Given the description of an element on the screen output the (x, y) to click on. 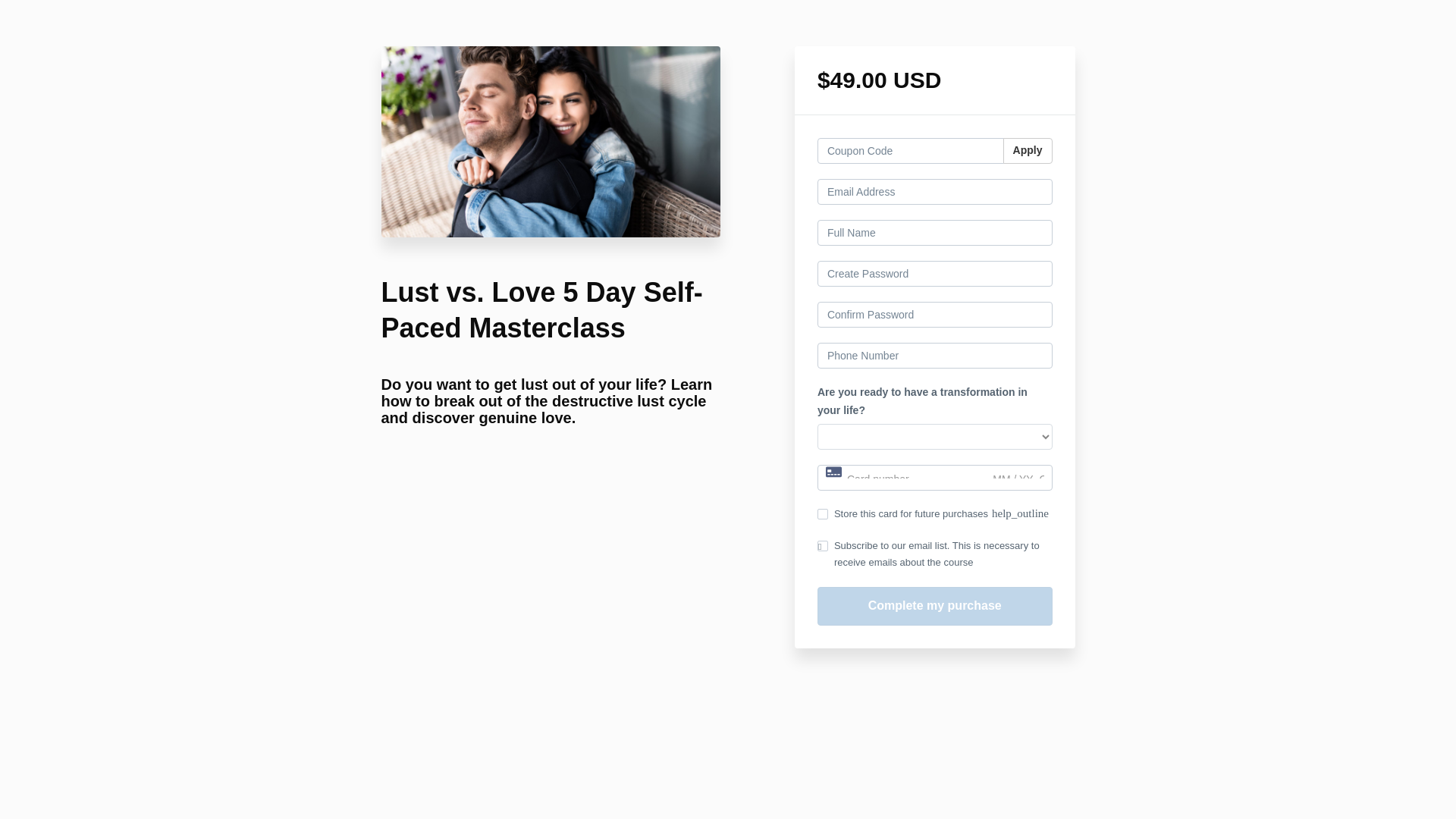
Complete my purchase (934, 606)
1 (822, 513)
Complete my purchase (934, 606)
Apply (1027, 150)
1 (822, 545)
Secure card payment input frame (934, 479)
